Given the description of an element on the screen output the (x, y) to click on. 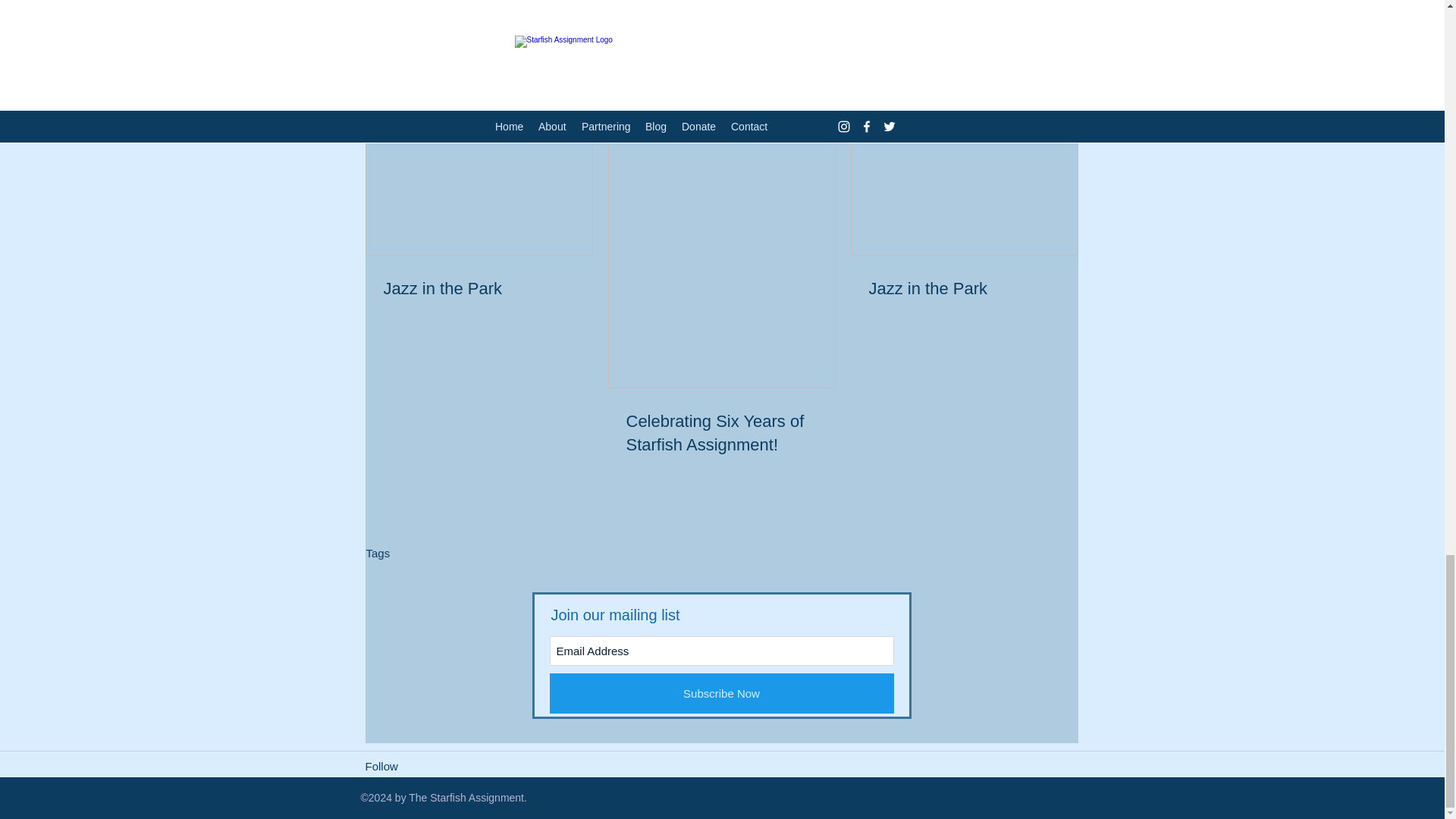
Celebrating Six Years of Starfish Assignment! (721, 433)
Jazz in the Park (479, 289)
Jazz in the Park (964, 289)
Subscribe Now (720, 693)
